Given the description of an element on the screen output the (x, y) to click on. 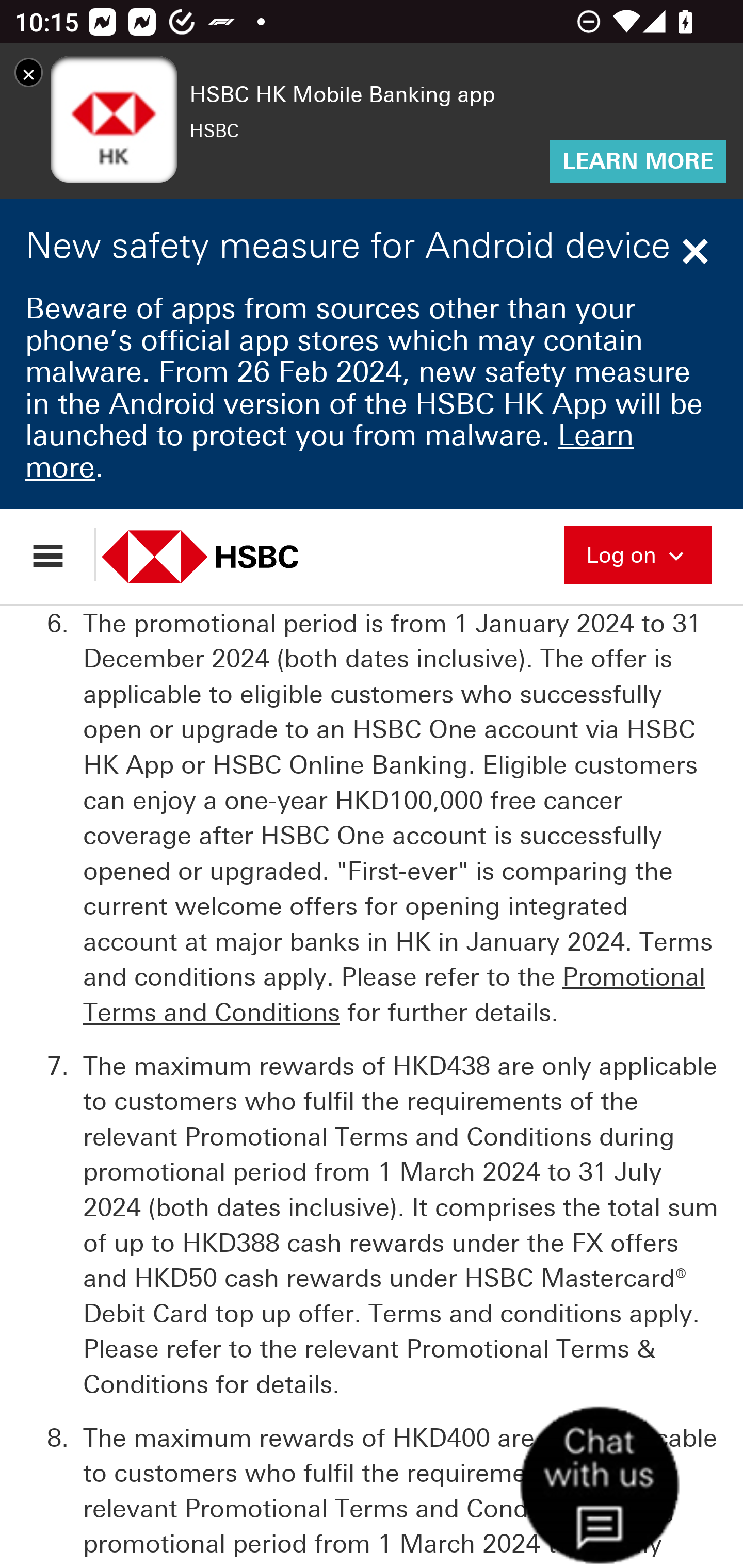
X (28, 72)
LEARN MORE (638, 160)
Close (697, 253)
Learn more (329, 451)
Log on Collapsed (638, 553)
Open menu (57, 554)
HSBC Hong Kong Bank (221, 556)
Promotional Terms and Conditions (394, 993)
